Given the description of an element on the screen output the (x, y) to click on. 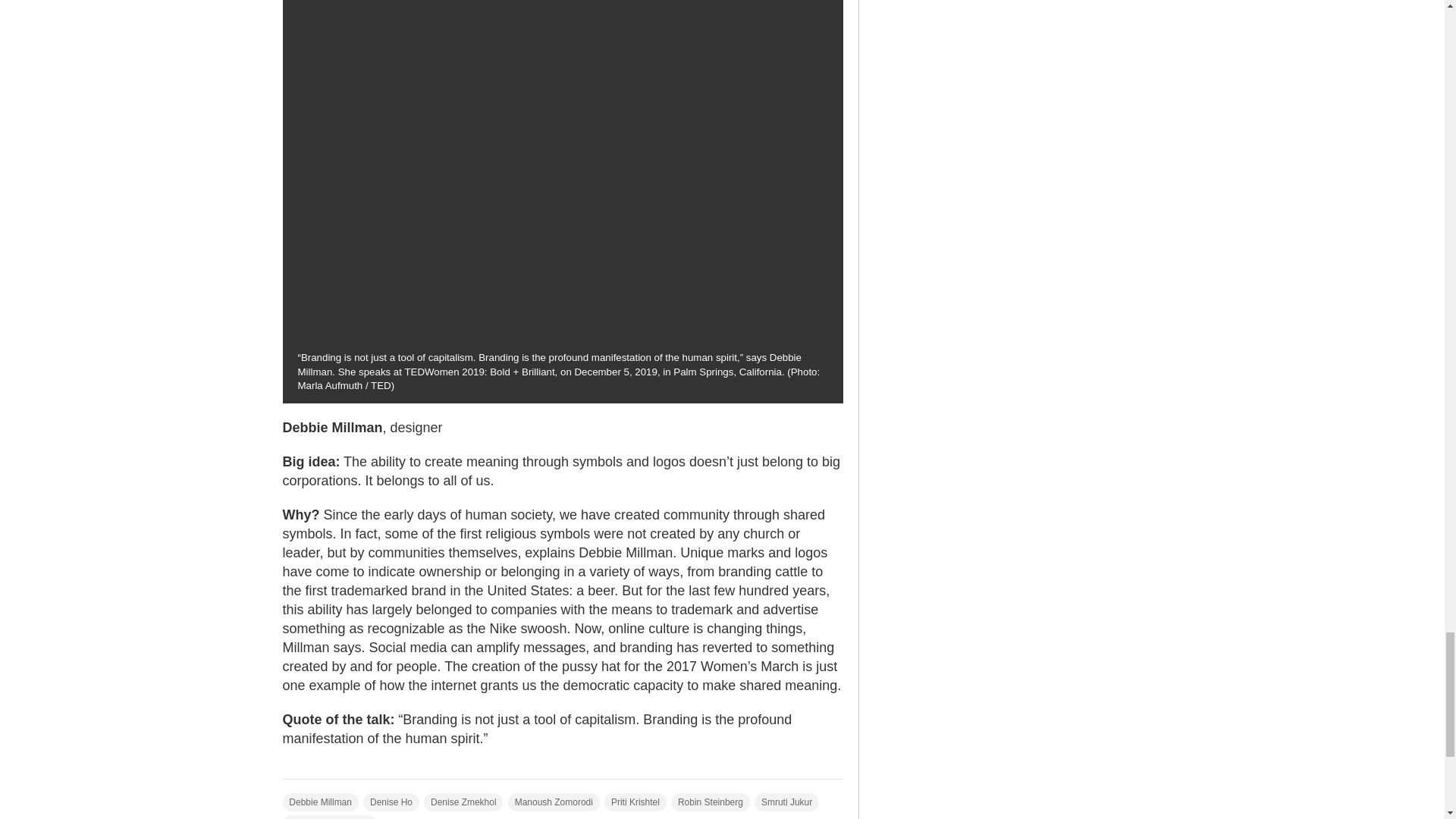
Denise Ho (390, 802)
Robin Steinberg (710, 802)
Yvonne Aki-Sawyerr (329, 816)
Priti Krishtel (635, 802)
Denise Zmekhol (462, 802)
Manoush Zomorodi (553, 802)
Debbie Millman (320, 802)
Smruti Jukur (786, 802)
